Given the description of an element on the screen output the (x, y) to click on. 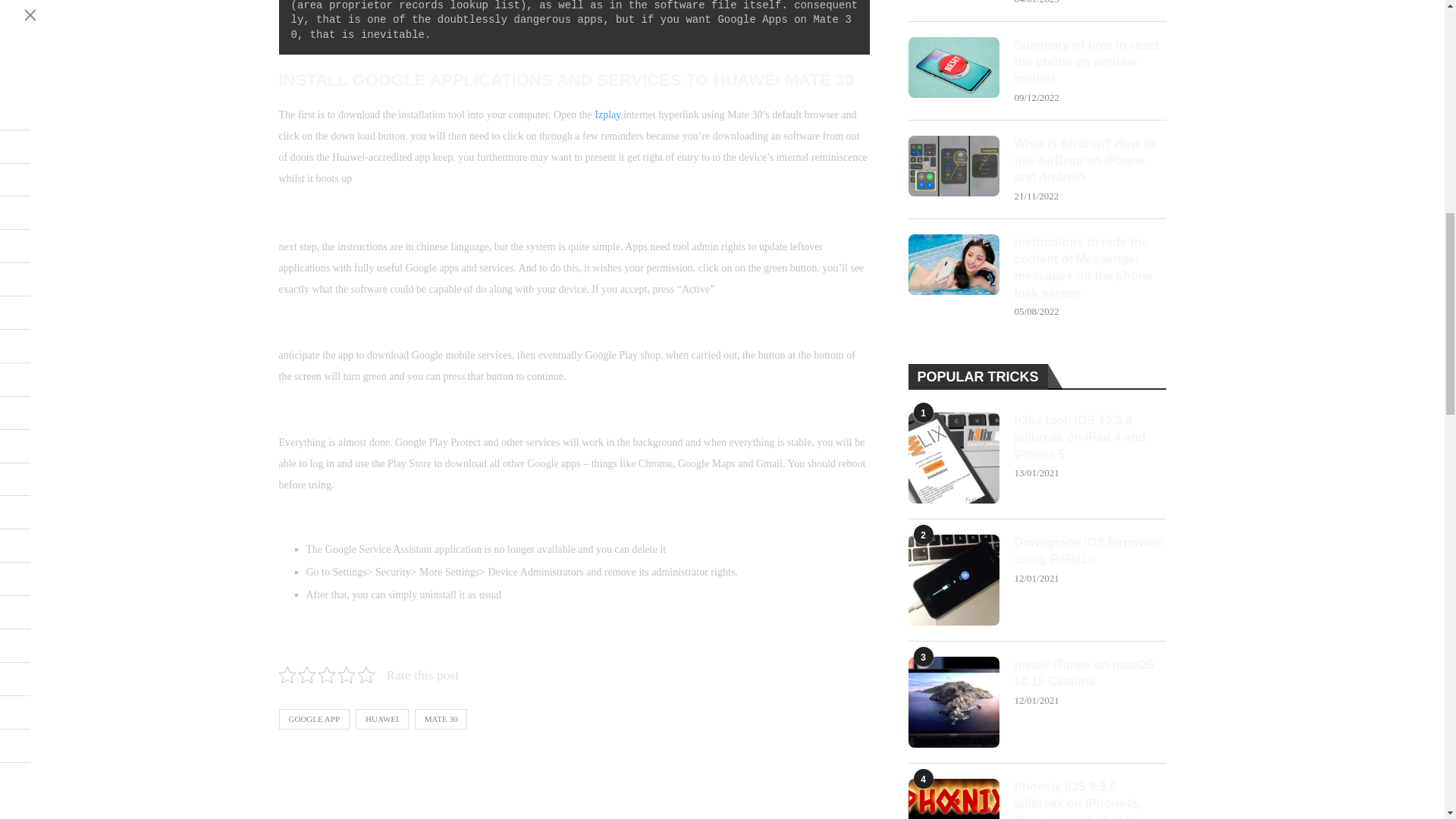
h3lix tool, iOS 10.3.4 jailbreak on iPad 4 and iPhone 5 (953, 457)
h3lix tool, iOS 10.3.4 jailbreak on iPad 4 and iPhone 5 (1090, 437)
MATE 30 (440, 718)
Summary of how to reset the phone on popular models (953, 66)
Summary of how to reset the phone on popular models (1090, 61)
Downgrade iOS Firmware using ReRa1n (953, 579)
GOOGLE APP (314, 718)
HUAWEI (382, 718)
